Given the description of an element on the screen output the (x, y) to click on. 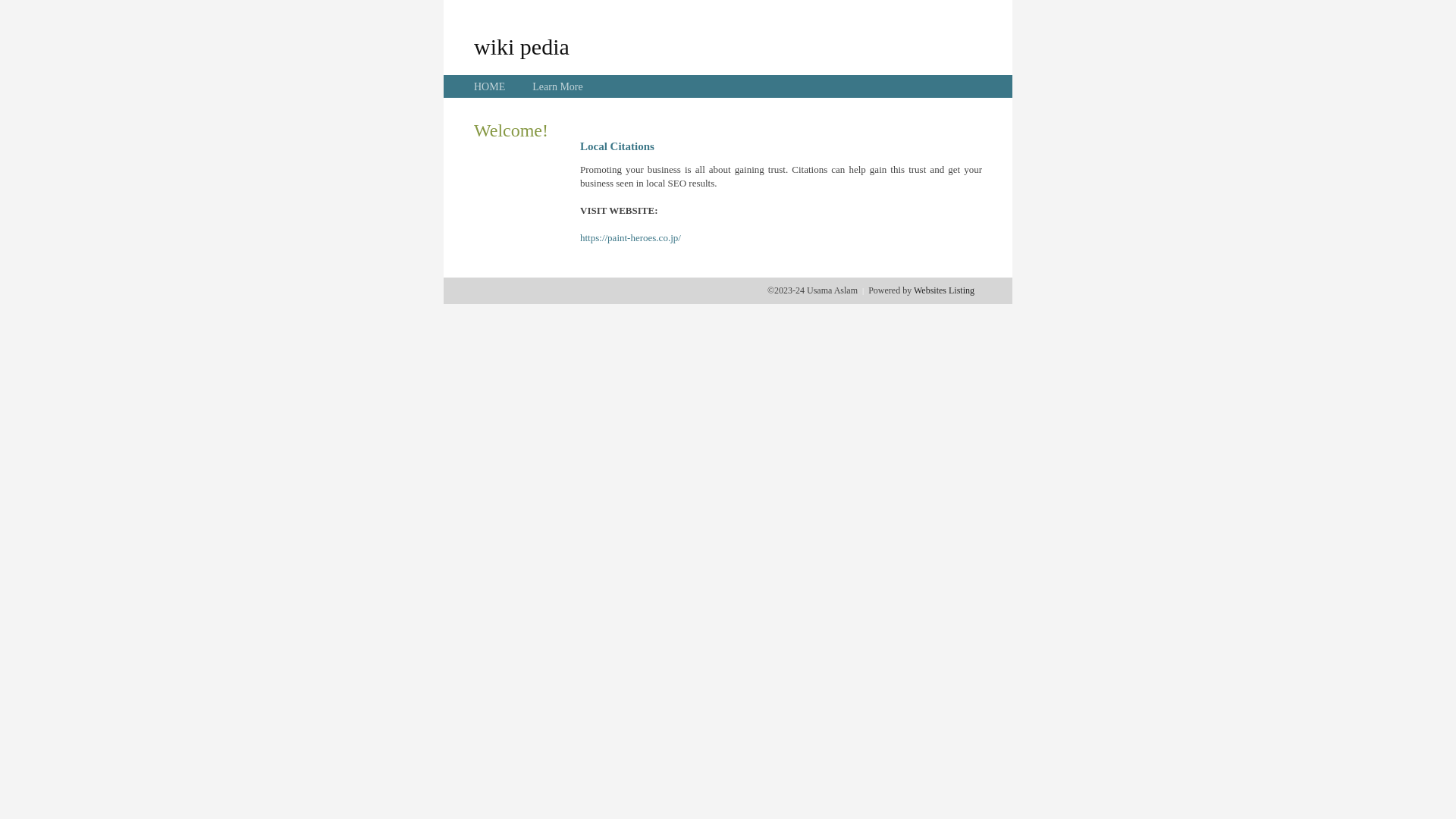
Websites Listing Element type: text (943, 290)
HOME Element type: text (489, 86)
wiki pedia Element type: text (521, 46)
https://paint-heroes.co.jp/ Element type: text (630, 237)
Learn More Element type: text (557, 86)
